Given the description of an element on the screen output the (x, y) to click on. 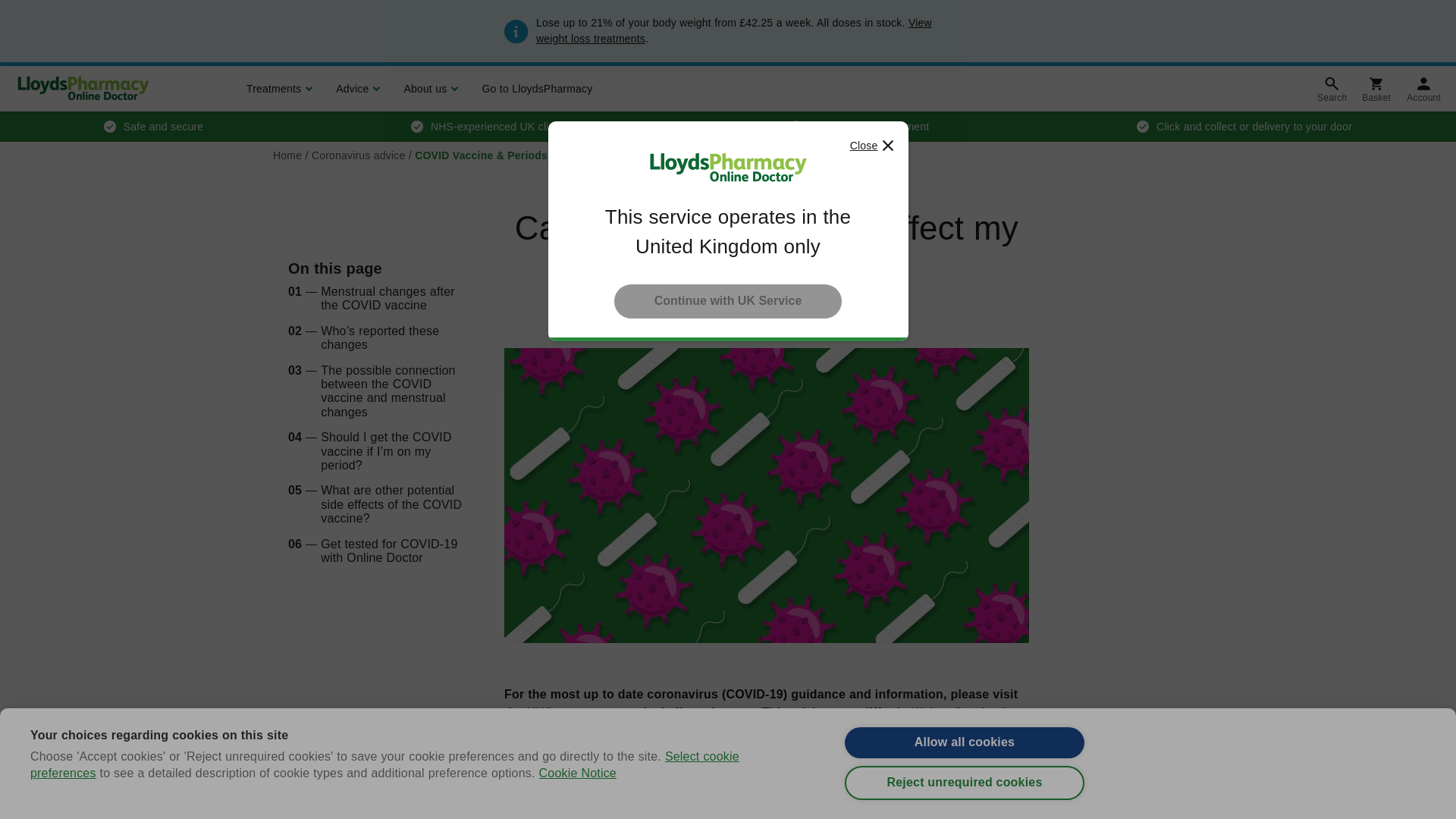
Reject unrequired cookies (964, 811)
Advice (355, 88)
Allow all cookies (964, 771)
Go to LloydsPharmacy (534, 88)
Basket (1375, 88)
View weight loss treatments (733, 30)
Treatments (278, 88)
LloydsPharmacy Online Doctor (82, 88)
Account (1423, 88)
LloydsPharmacy Online Doctor (727, 167)
